Given the description of an element on the screen output the (x, y) to click on. 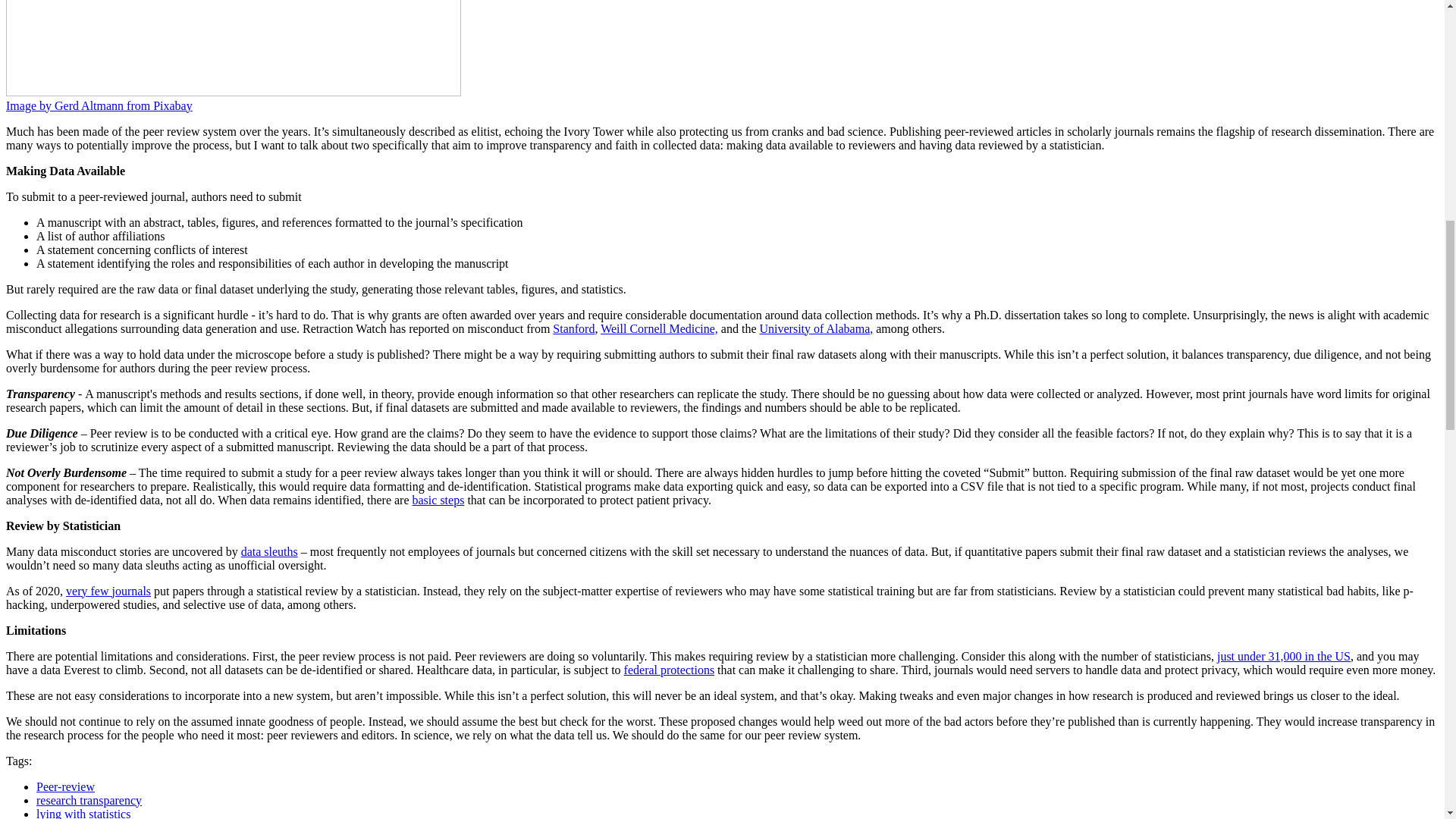
Stanford (573, 328)
University of Alabama, (816, 328)
very few journals (108, 590)
Weill Cornell Medicine, (658, 328)
basic steps (438, 499)
Image by Gerd Altmann from Pixabay (98, 105)
data sleuths (269, 551)
